Given the description of an element on the screen output the (x, y) to click on. 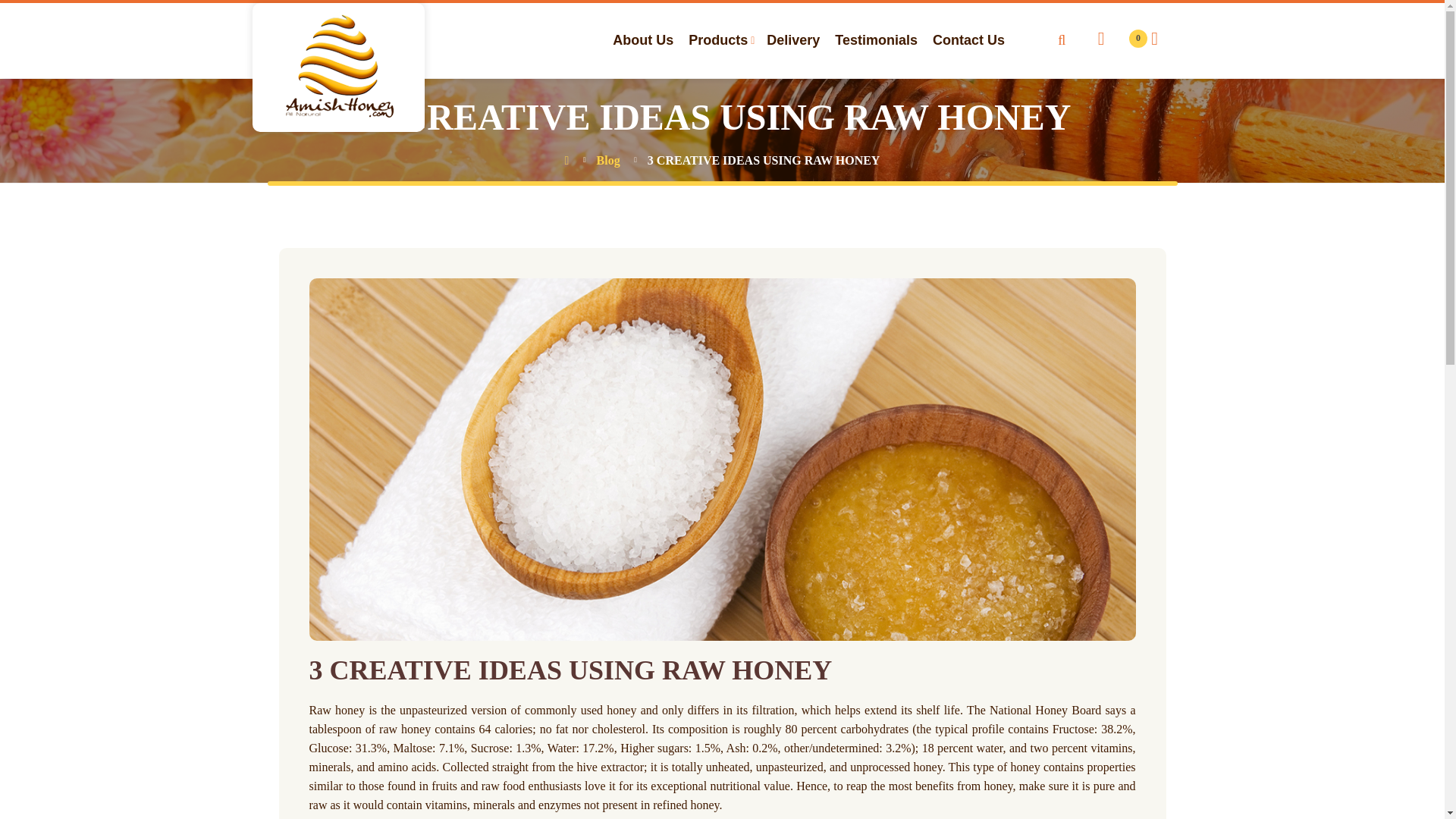
Blog (608, 160)
Amish honey (337, 67)
Delivery (792, 40)
Search (1061, 40)
About Us (643, 40)
Amish honey (337, 5)
Testimonials (875, 40)
Products (718, 40)
Contact Us (967, 40)
